Given the description of an element on the screen output the (x, y) to click on. 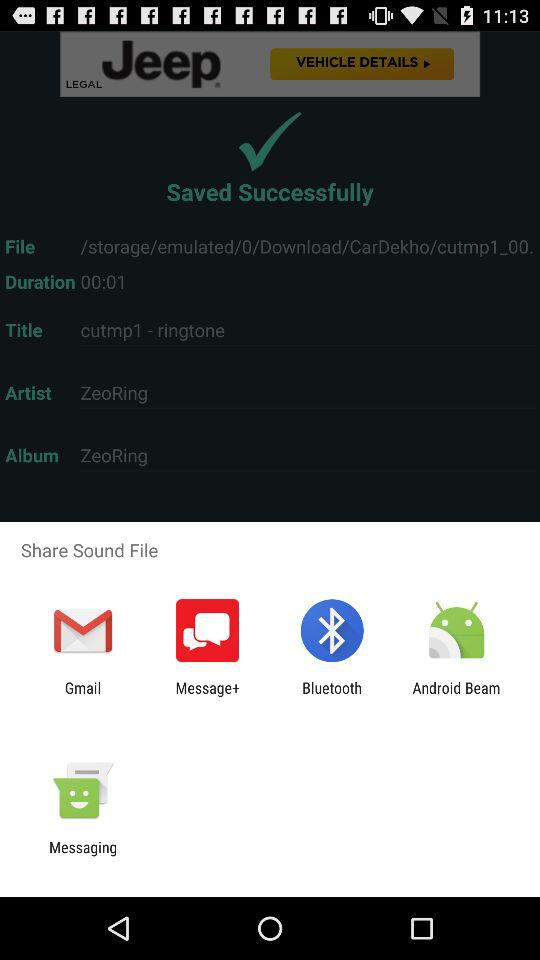
turn on app next to the android beam (331, 696)
